Given the description of an element on the screen output the (x, y) to click on. 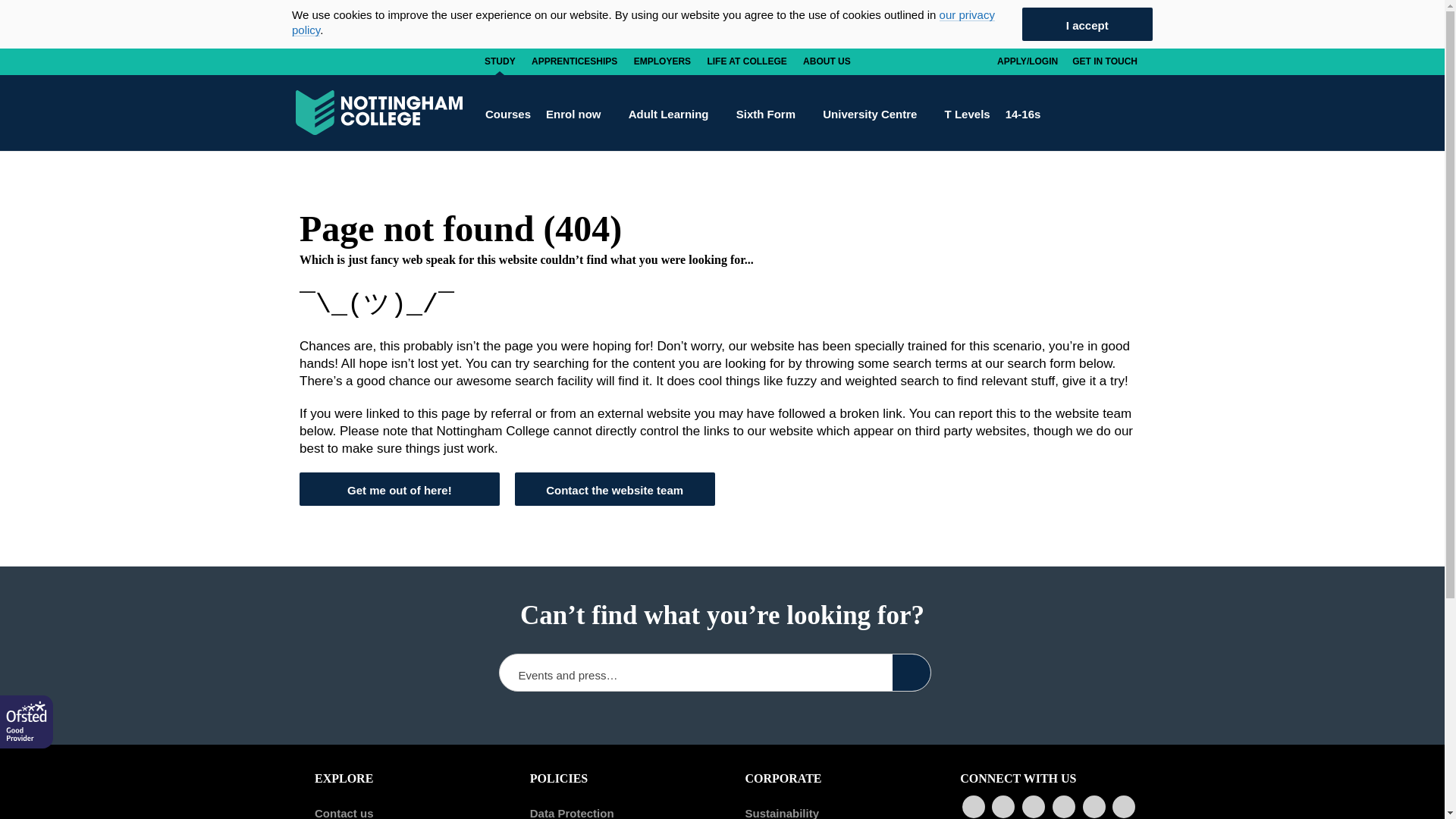
GET IN TOUCH (1104, 61)
STUDY (499, 61)
APPRENTICESHIPS (574, 61)
Nottingham College (378, 112)
Courses (507, 112)
Sixth Form (772, 112)
Enrol now (579, 112)
LIFE AT COLLEGE (746, 61)
our privacy policy (643, 22)
ABOUT US (826, 61)
